Given the description of an element on the screen output the (x, y) to click on. 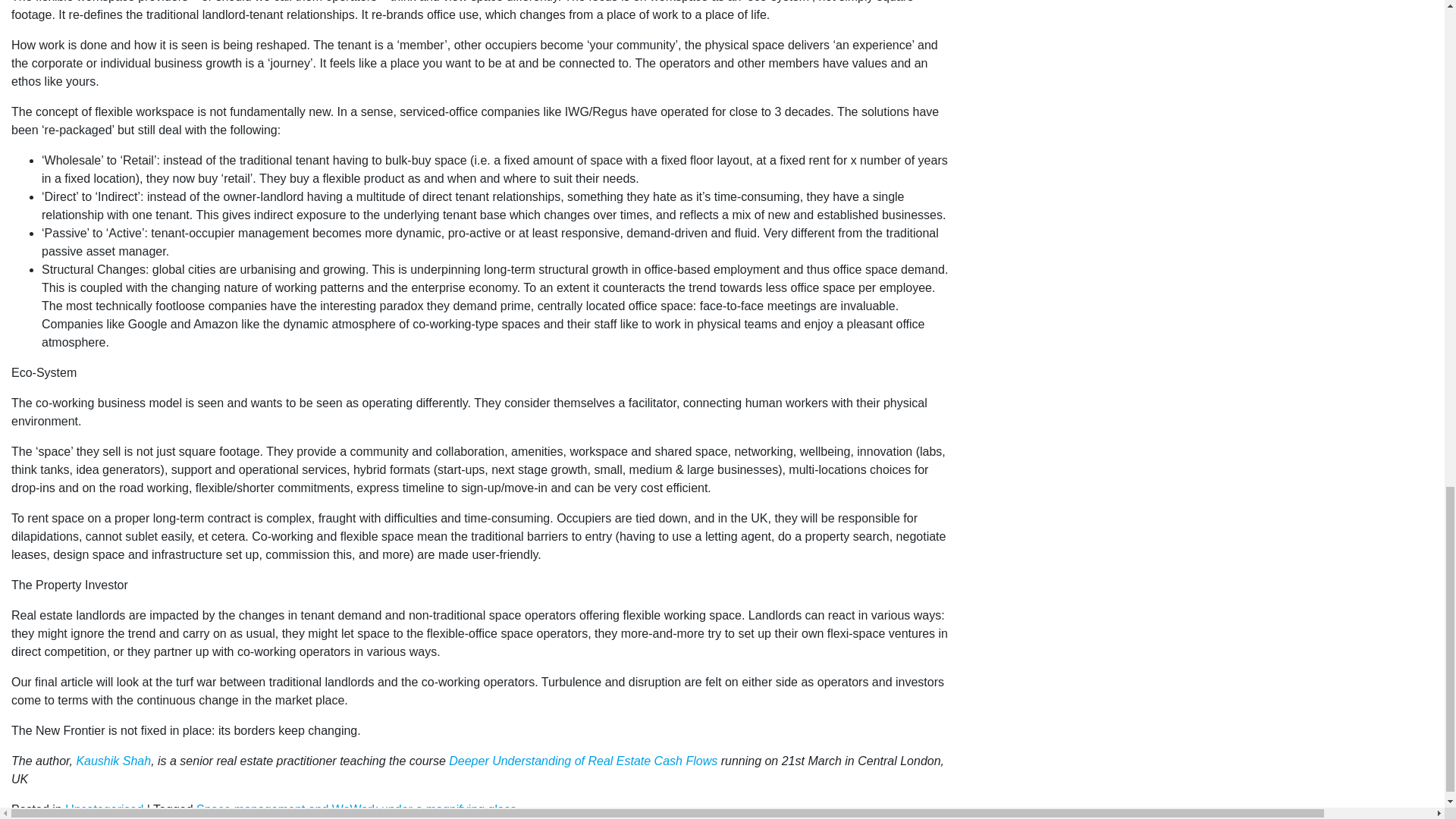
Space management and WeWork under a magnifying glass (356, 809)
Uncategorised (103, 809)
Kaushik Shah (113, 760)
Deeper Understanding of Real Estate Cash Flows (582, 760)
